Given the description of an element on the screen output the (x, y) to click on. 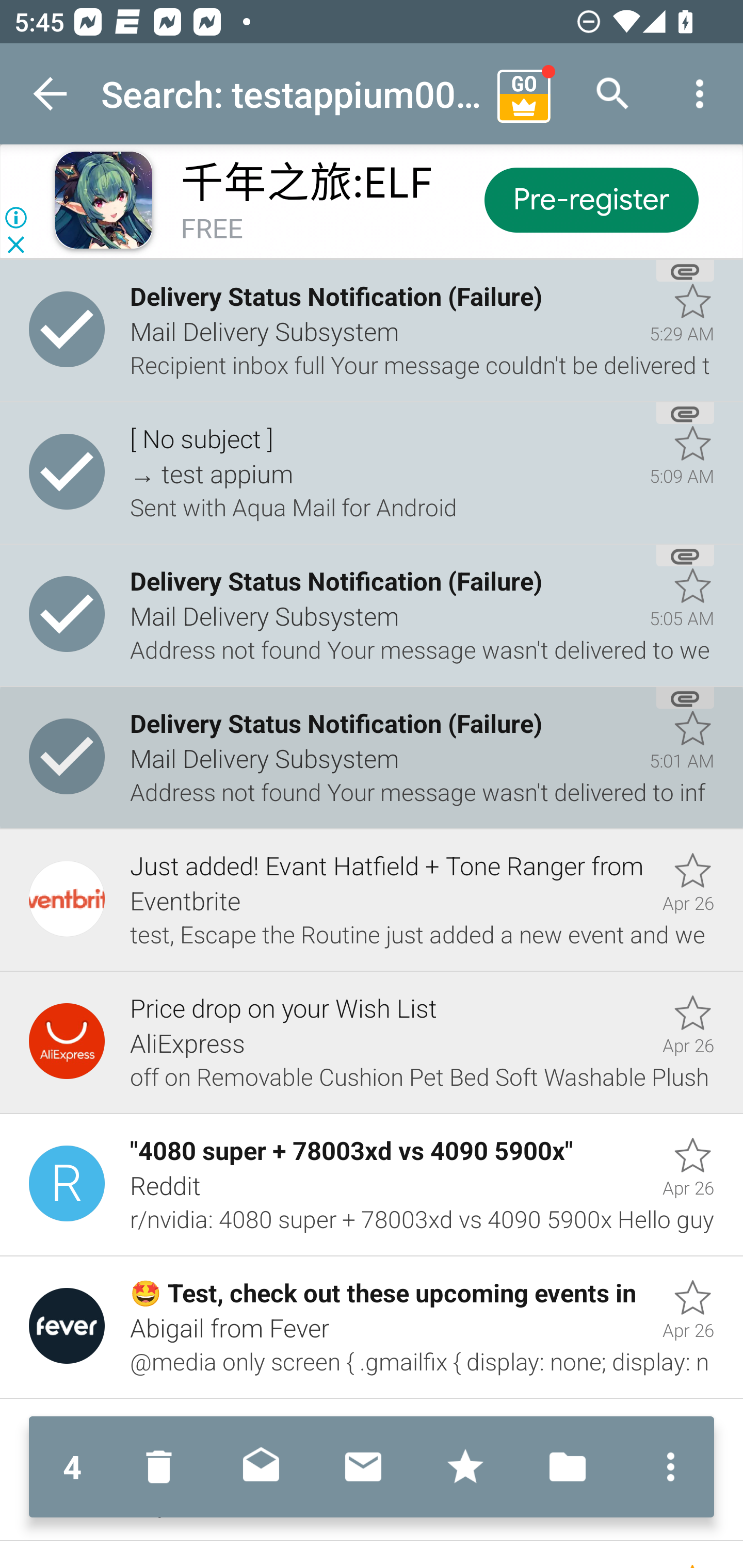
Navigate up (50, 93)
Search (612, 93)
More options (699, 93)
千年之旅:ELF (306, 183)
Pre-register (590, 199)
FREE (211, 230)
4 4 messages (71, 1466)
Move to Deleted (162, 1466)
Mark read (261, 1466)
Mark unread (363, 1466)
Mark with stars (465, 1466)
Move to folder… (567, 1466)
More options (666, 1466)
